Given the description of an element on the screen output the (x, y) to click on. 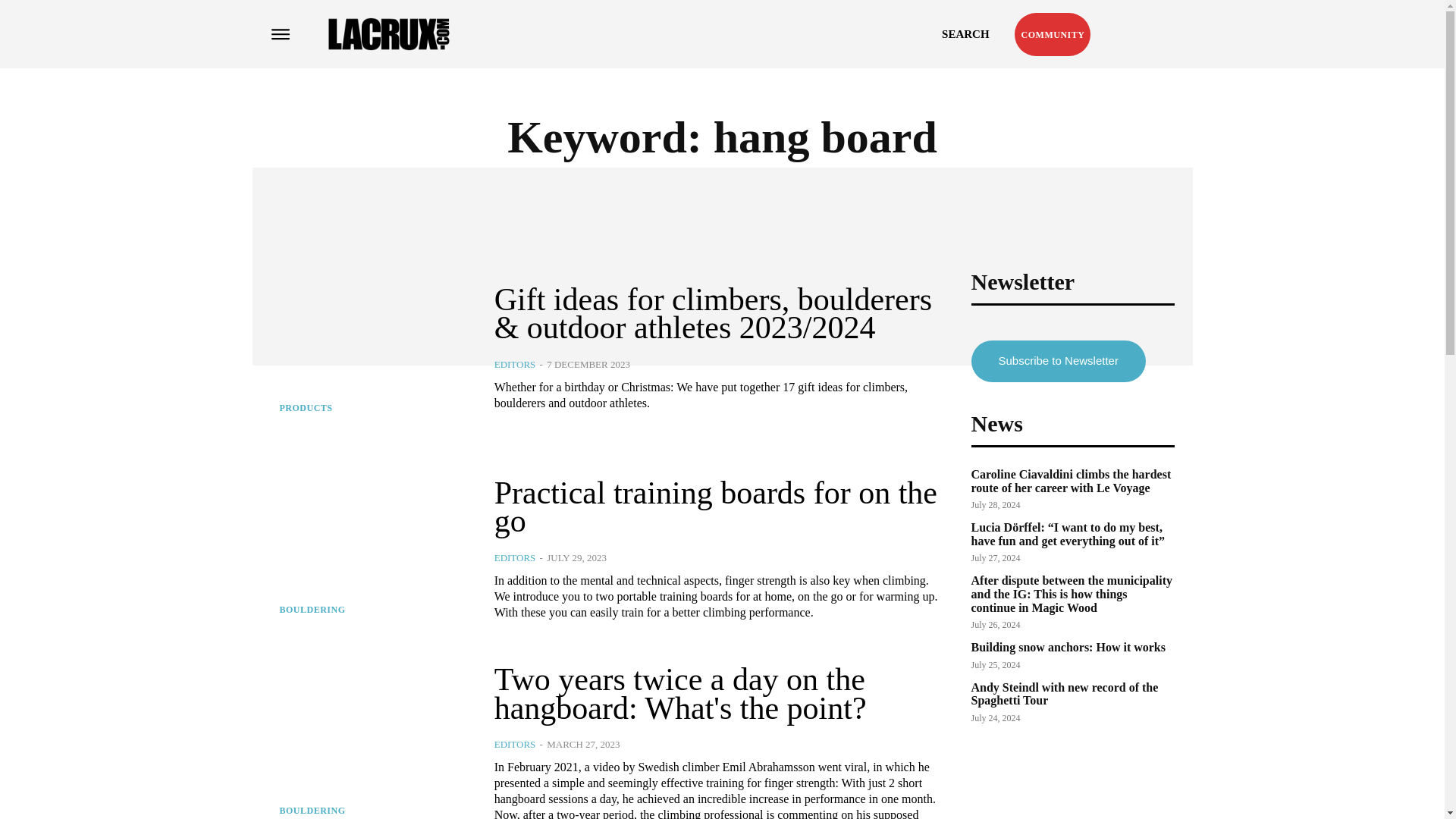
COMMUNITY (1052, 34)
Community (1052, 34)
SEARCH (966, 33)
